Given the description of an element on the screen output the (x, y) to click on. 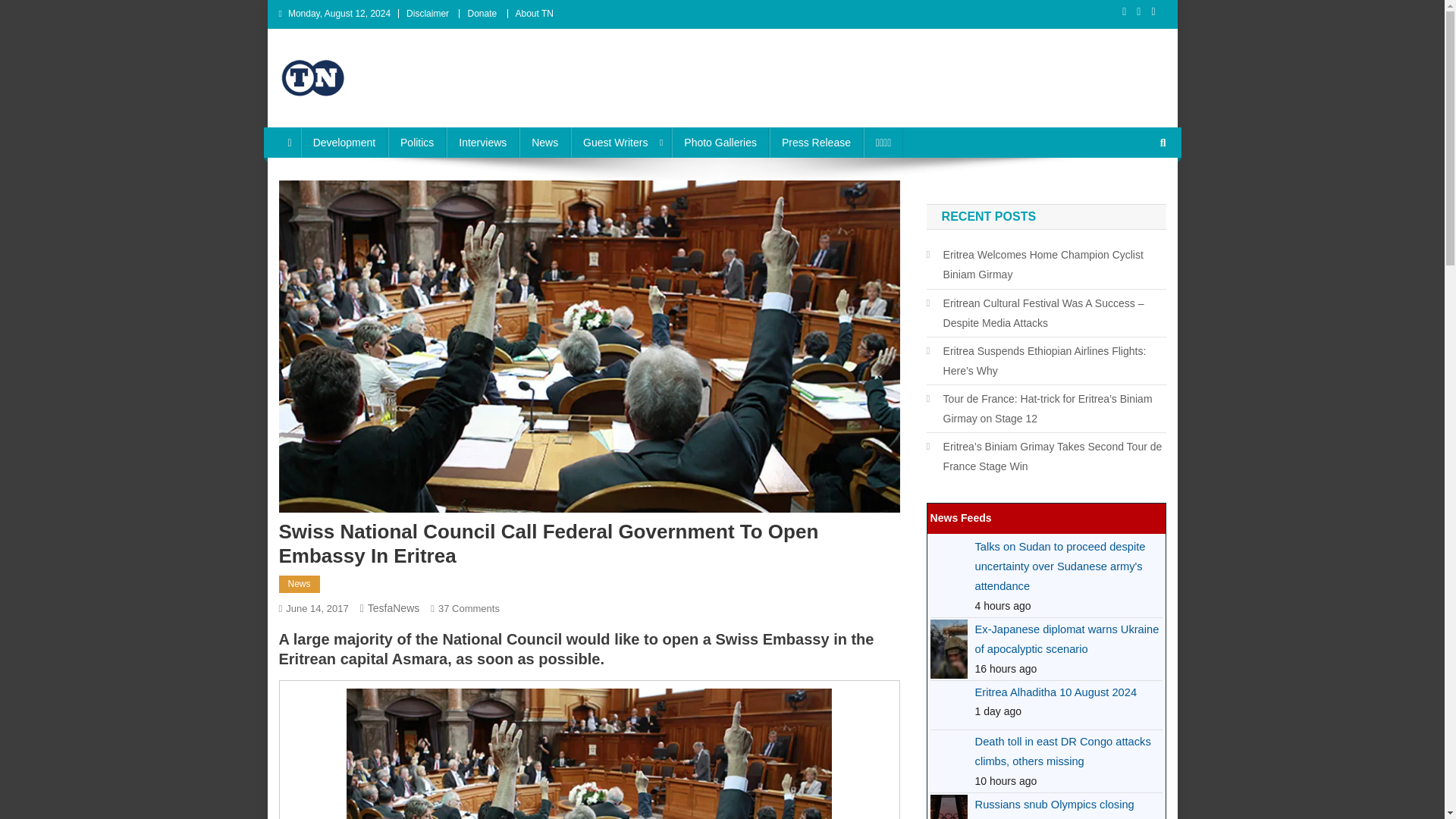
Interviews (482, 142)
About TN (534, 13)
Search (1133, 193)
Press Release (816, 142)
Disclaimer (1068, 705)
